Given the description of an element on the screen output the (x, y) to click on. 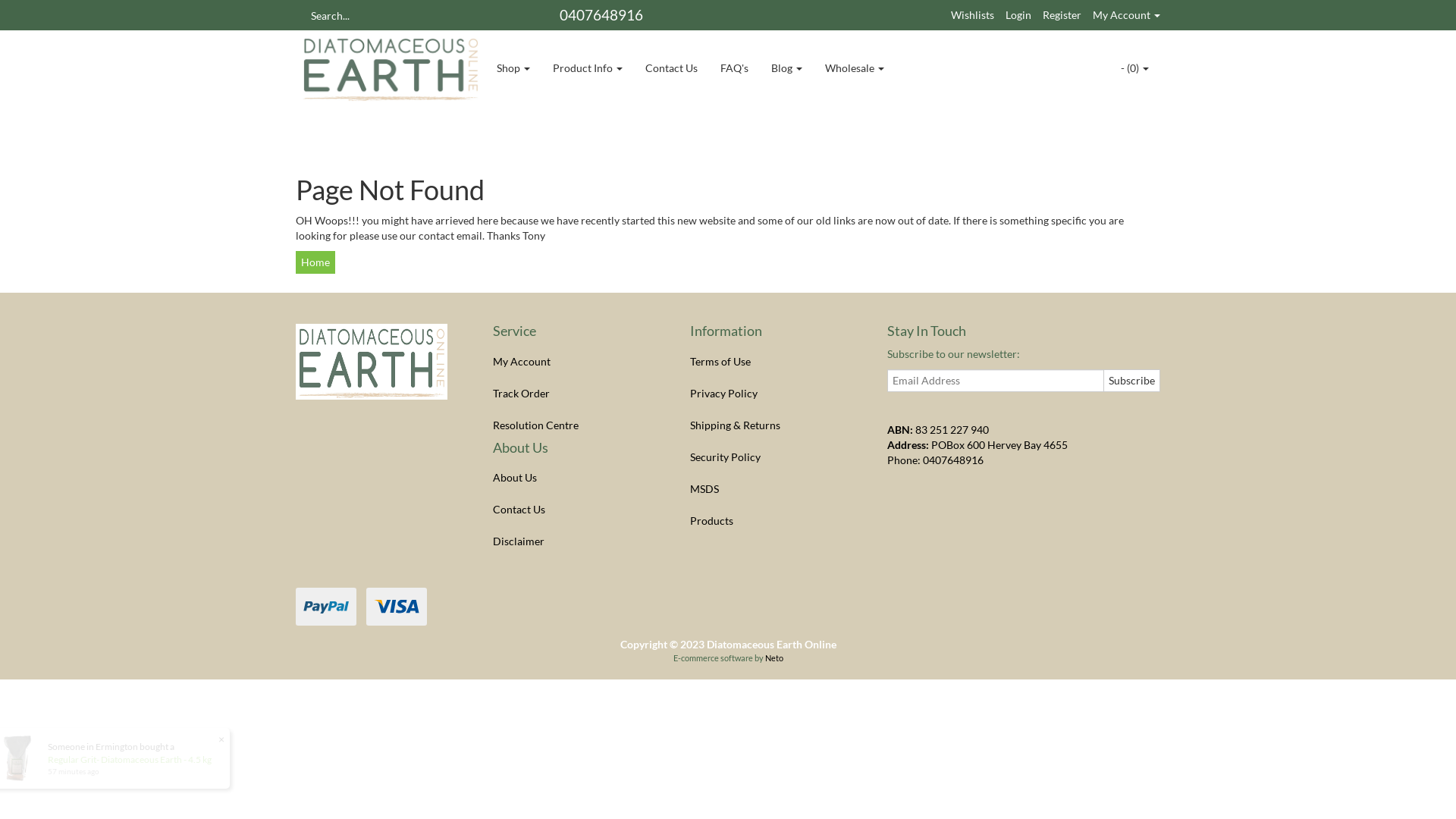
FAQ's Element type: text (734, 68)
- (0) Element type: text (1134, 68)
Regular Grit- Diatomaceous Earth - 4.5 kg Element type: text (134, 759)
My Account Element type: text (574, 361)
Home Element type: text (315, 262)
Register Element type: text (1061, 14)
Wholesale Element type: text (854, 68)
0407648916 Element type: text (952, 459)
Resolution Centre Element type: text (574, 425)
Shop Element type: text (513, 68)
Blog Element type: text (786, 68)
Terms of Use Element type: text (771, 361)
0407648916 Element type: text (601, 14)
Contact Us Element type: text (574, 509)
Security Policy Element type: text (771, 457)
Subscribe Element type: text (1131, 380)
Products Element type: text (771, 520)
Wishlists Element type: text (972, 14)
Neto Element type: text (773, 657)
Shipping & Returns Element type: text (771, 425)
Login Element type: text (1018, 14)
Search Element type: text (300, 14)
About Us Element type: text (574, 477)
Disclaimer Element type: text (574, 541)
Contact Us Element type: text (671, 68)
Product Info Element type: text (587, 68)
Track Order Element type: text (574, 393)
Privacy Policy Element type: text (771, 393)
My Account Element type: text (1126, 14)
MSDS Element type: text (771, 488)
